Given the description of an element on the screen output the (x, y) to click on. 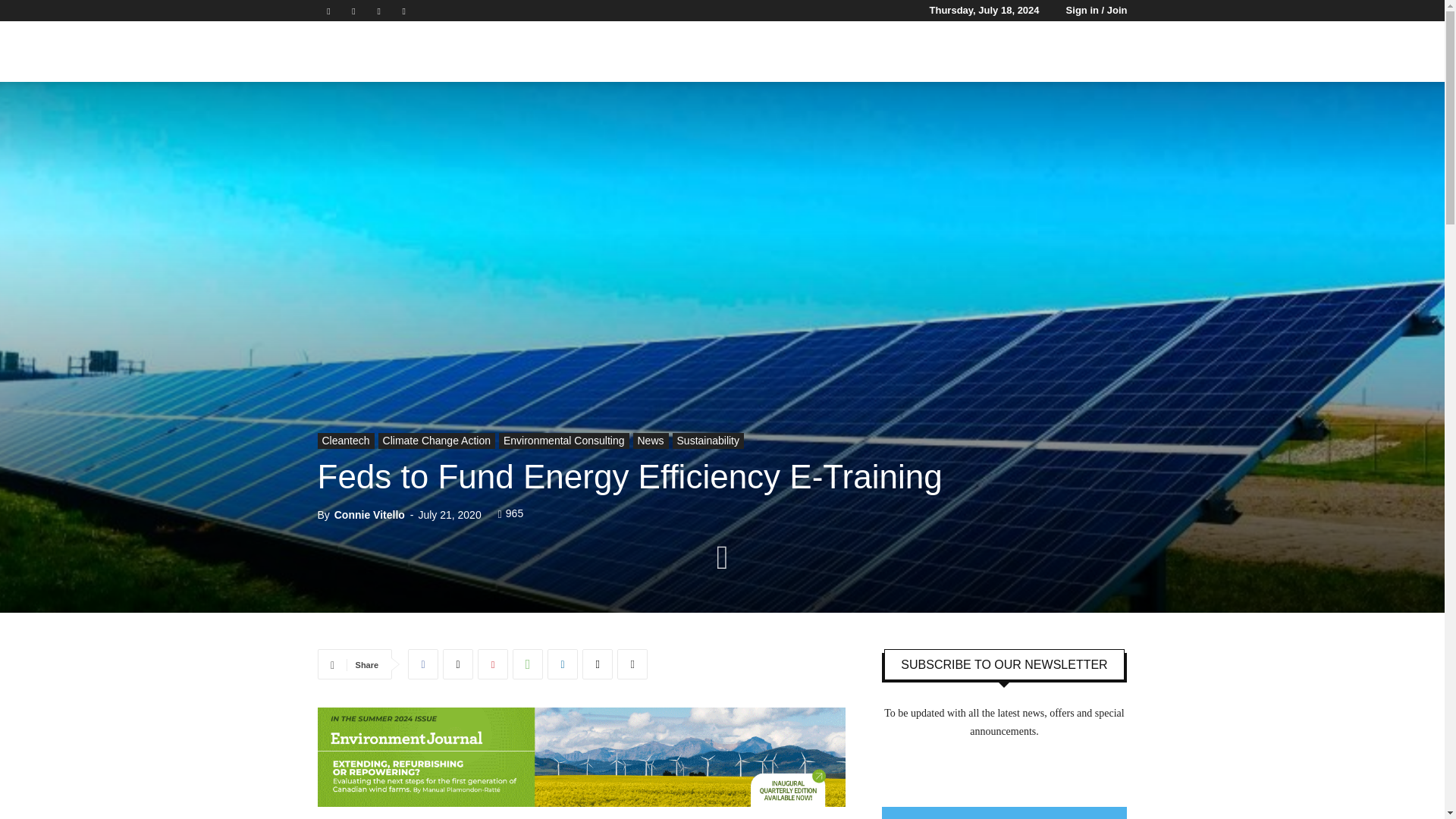
Pinterest (492, 664)
The Environment Journal (361, 51)
WhatsApp (527, 664)
EVENTS (833, 51)
Search (1134, 124)
Facebook (422, 664)
Facebook (328, 10)
Twitter (457, 664)
SUBSCRIBE (997, 51)
SHOWCASE (913, 51)
Linkedin (353, 10)
Youtube (403, 10)
Linkedin (562, 664)
Twitter (379, 10)
FEATURES (755, 51)
